Given the description of an element on the screen output the (x, y) to click on. 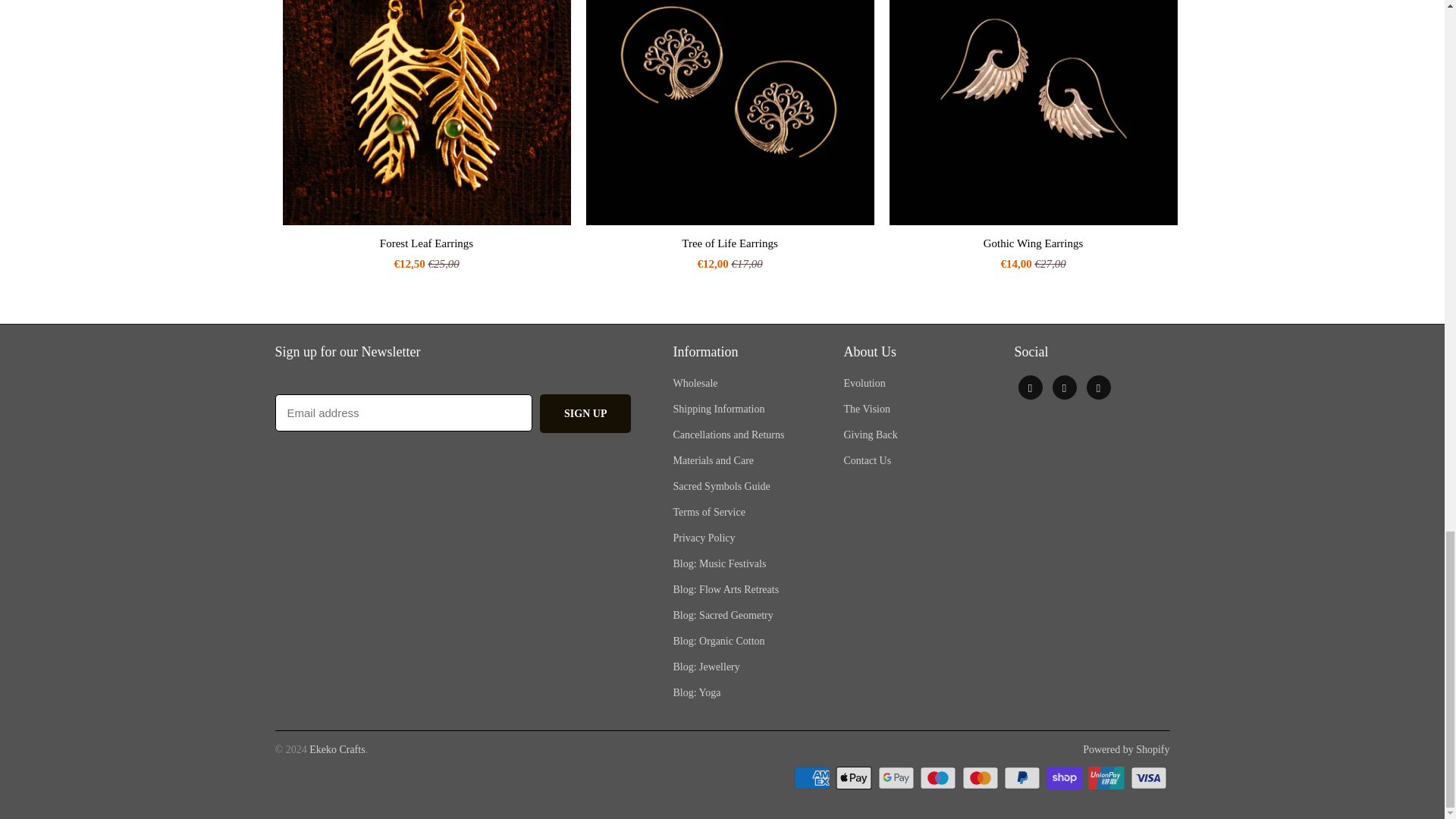
Maestro (939, 777)
Ekeko Crafts on Instagram (1064, 387)
Union Pay (1106, 777)
Apple Pay (855, 777)
American Express (812, 777)
PayPal (1023, 777)
Email Ekeko Crafts (1097, 387)
Shop Pay (1066, 777)
Ekeko Crafts on Facebook (1029, 387)
Mastercard (980, 777)
